Given the description of an element on the screen output the (x, y) to click on. 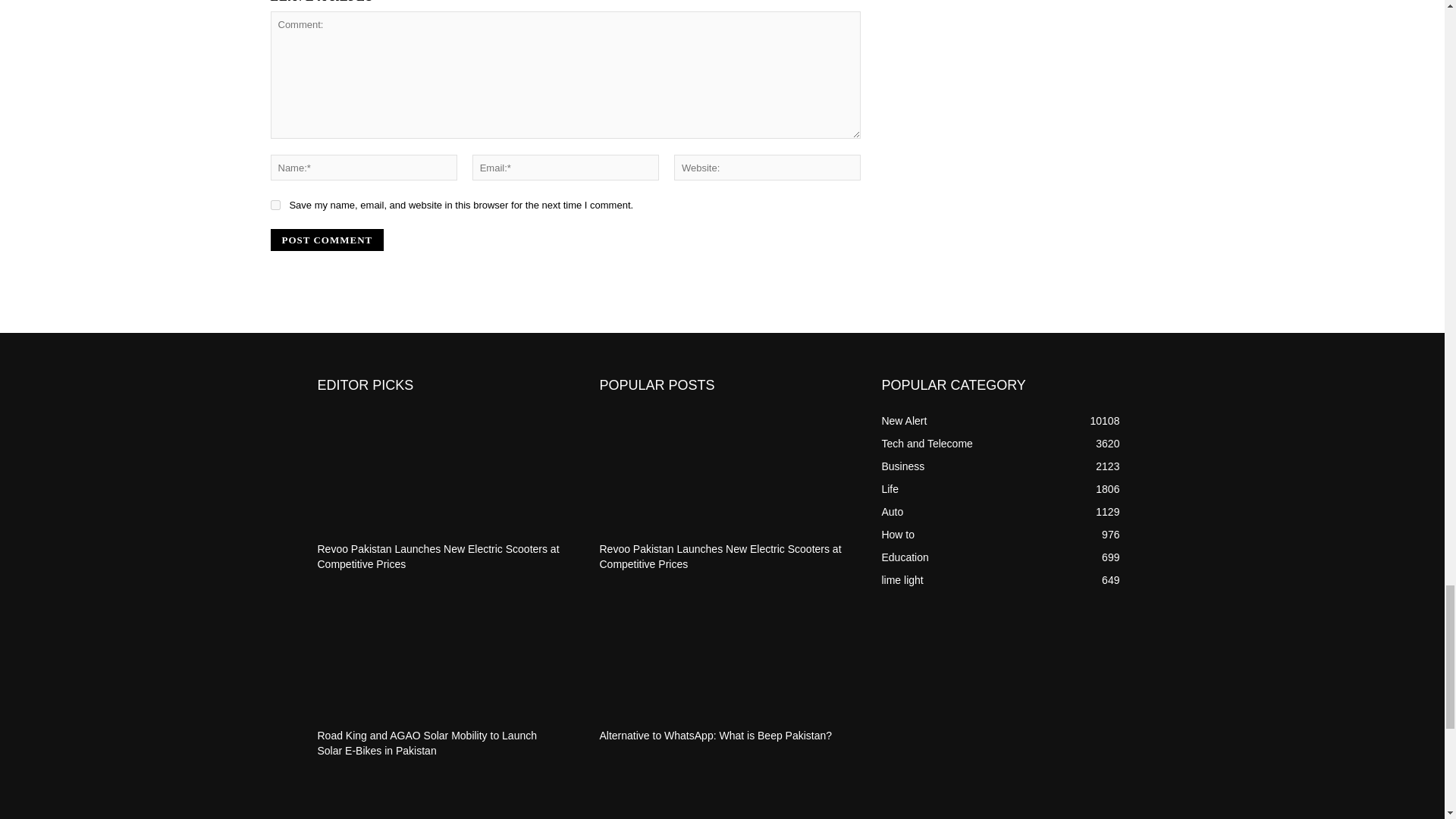
Post Comment (326, 239)
yes (274, 204)
